Given the description of an element on the screen output the (x, y) to click on. 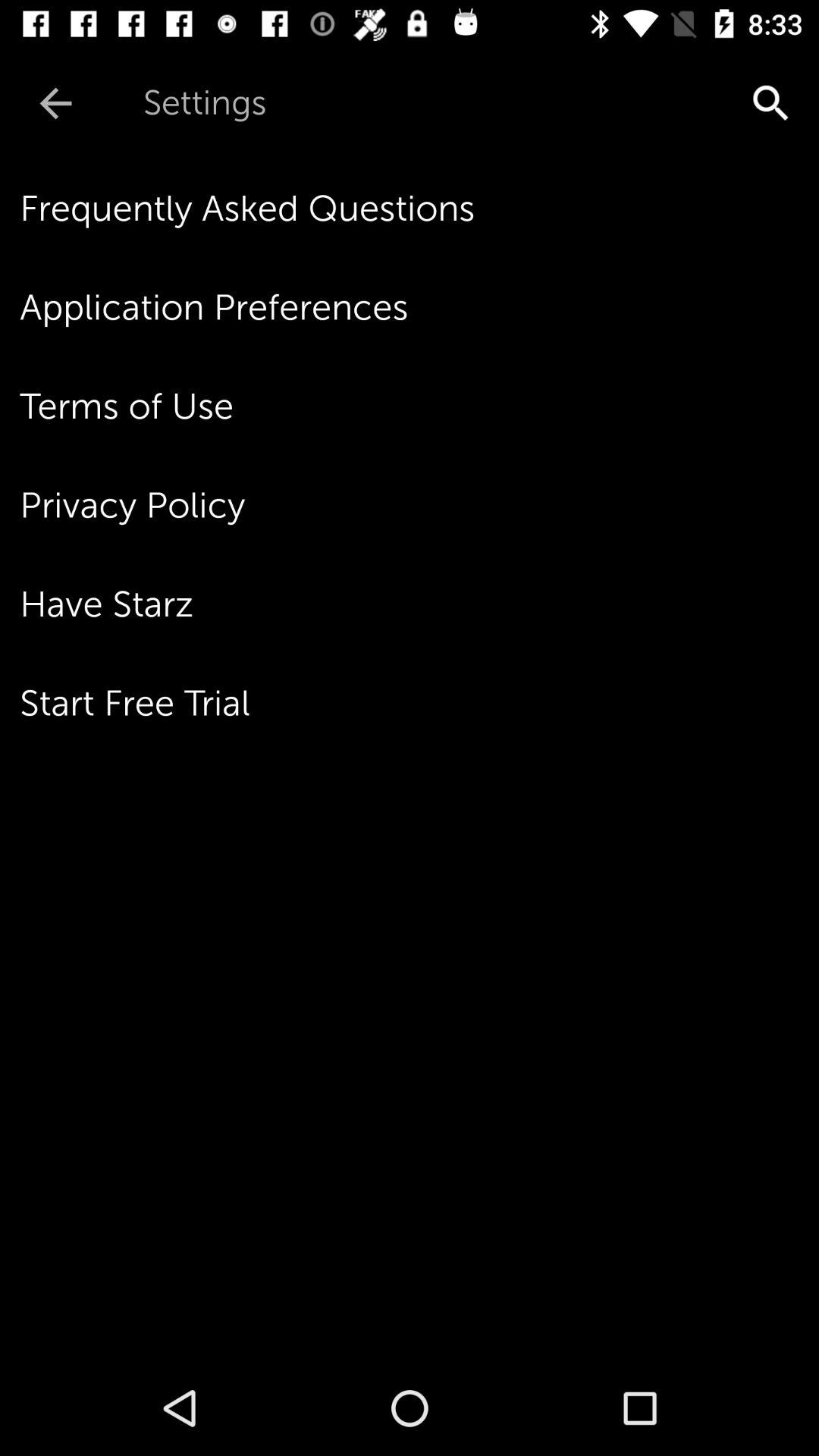
tap the icon below terms of use icon (419, 505)
